Given the description of an element on the screen output the (x, y) to click on. 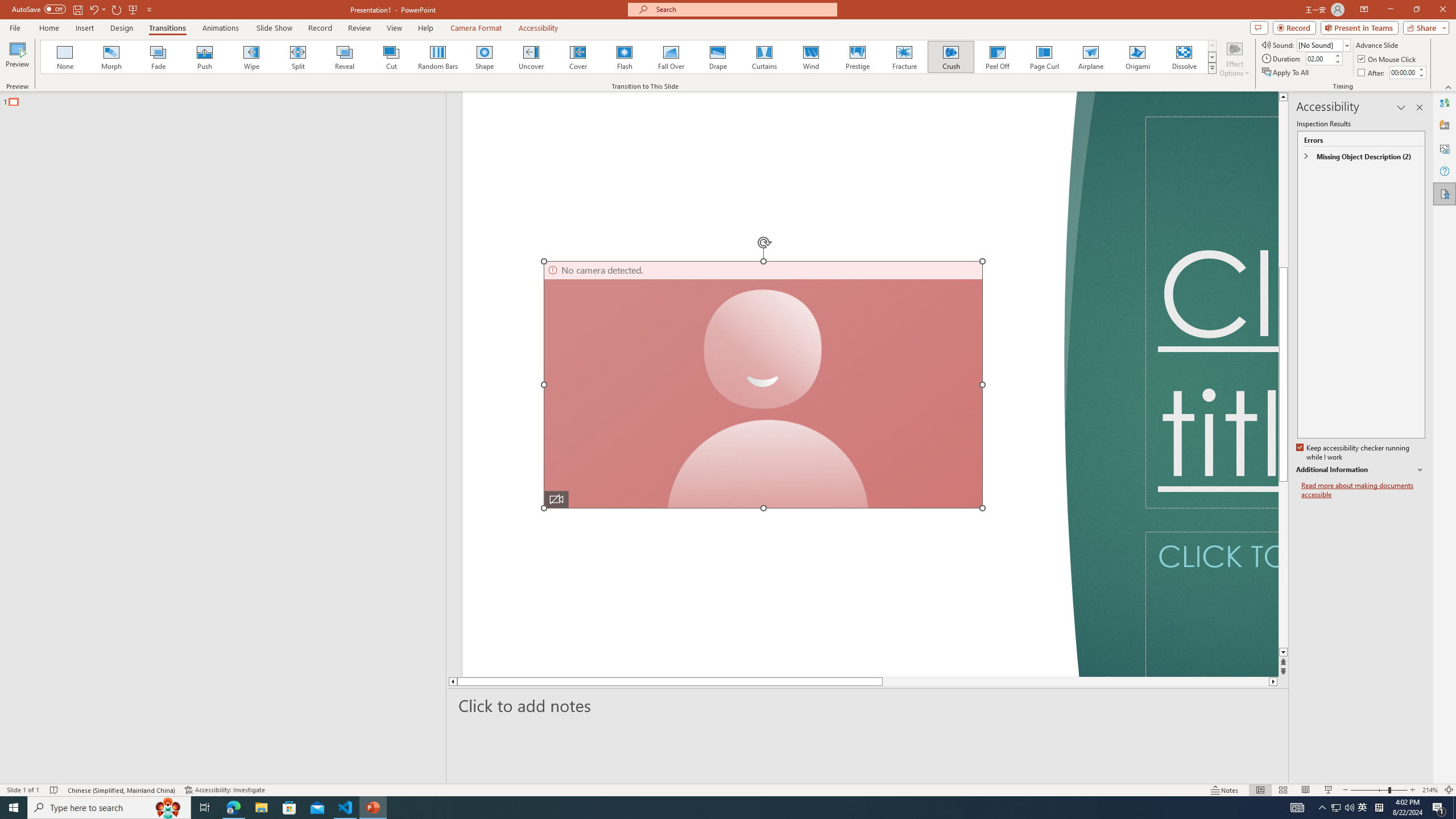
Zoom 214% (1430, 790)
Random Bars (437, 56)
Airplane (1090, 56)
Duration (1319, 58)
Fade (158, 56)
